Given the description of an element on the screen output the (x, y) to click on. 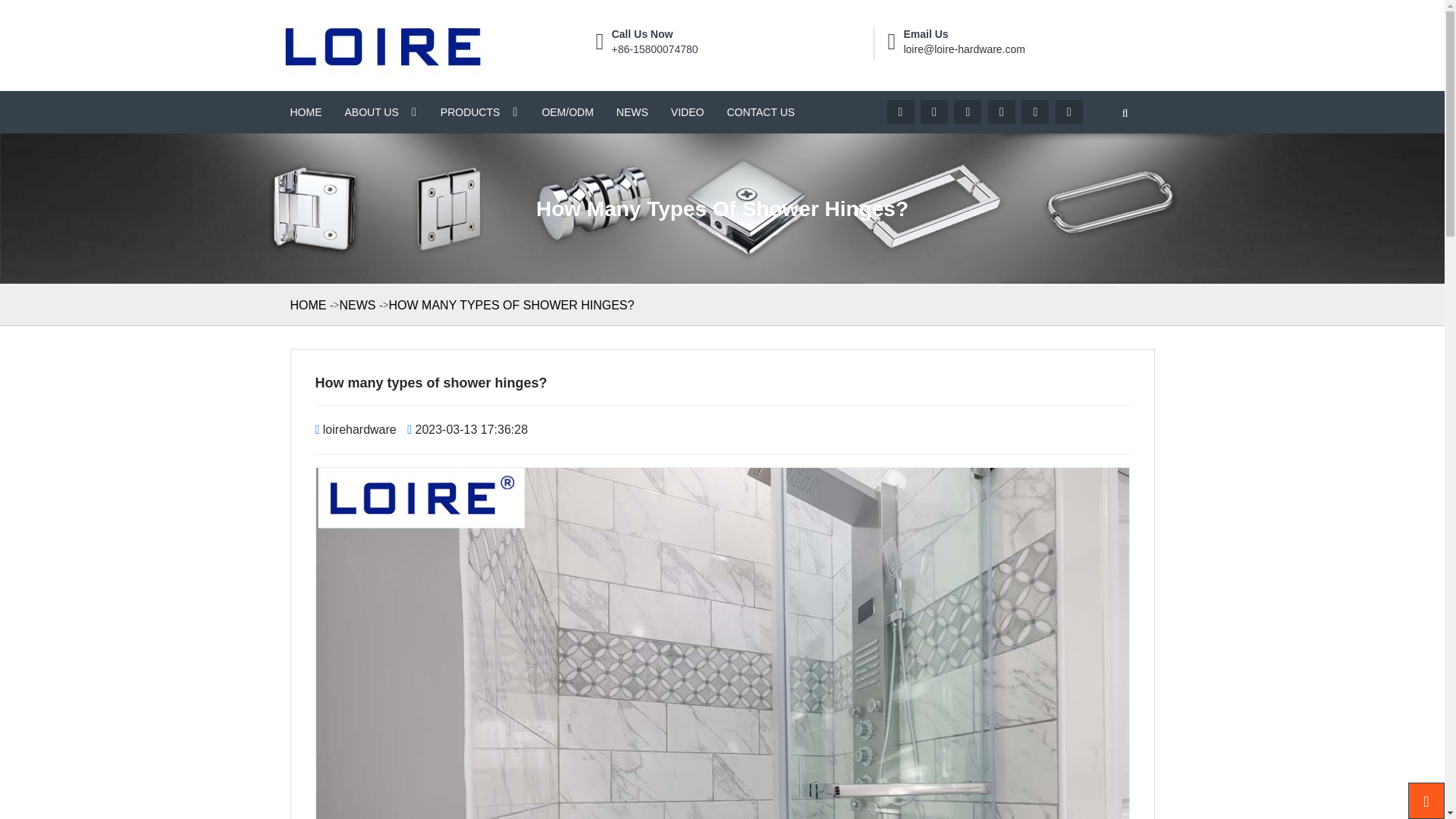
ABOUT US (381, 111)
HOME (306, 111)
PRODUCTS (480, 111)
